Given the description of an element on the screen output the (x, y) to click on. 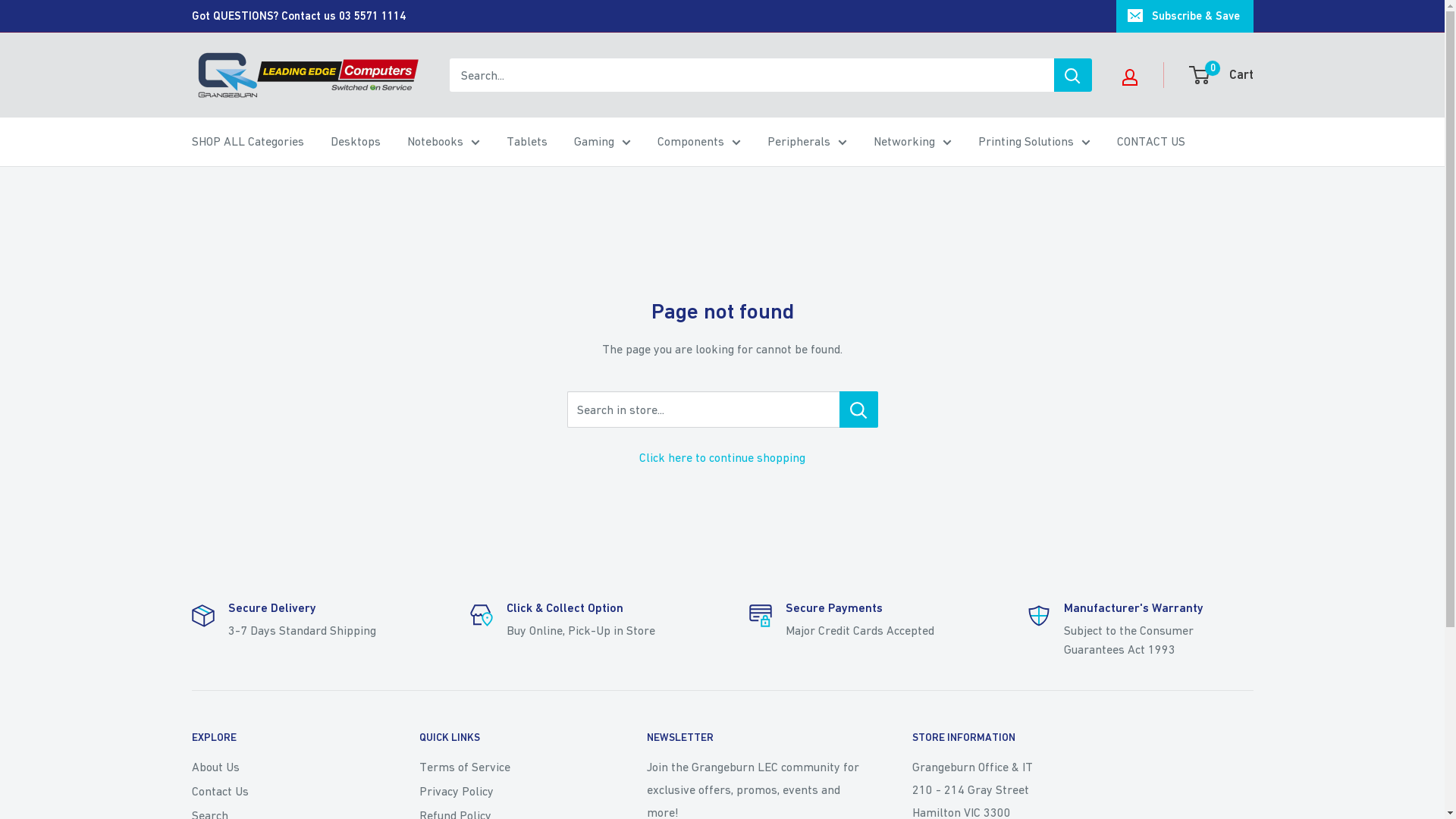
QUICK LINKS Element type: text (505, 737)
Printing Solutions Element type: text (1034, 141)
Subscribe & Save Element type: text (1184, 15)
Components Element type: text (698, 141)
Privacy Policy Element type: text (505, 790)
Click here to continue shopping Element type: text (722, 457)
About Us Element type: text (278, 766)
Desktops Element type: text (355, 141)
CONTACT US Element type: text (1150, 141)
Peripherals Element type: text (807, 141)
STORE INFORMATION Element type: text (1081, 737)
Terms of Service Element type: text (505, 766)
0
Cart Element type: text (1221, 74)
EXPLORE Element type: text (278, 737)
Tablets Element type: text (526, 141)
Networking Element type: text (912, 141)
Gaming Element type: text (601, 141)
Notebooks Element type: text (442, 141)
SHOP ALL Categories Element type: text (247, 141)
Contact Us Element type: text (278, 790)
